Given the description of an element on the screen output the (x, y) to click on. 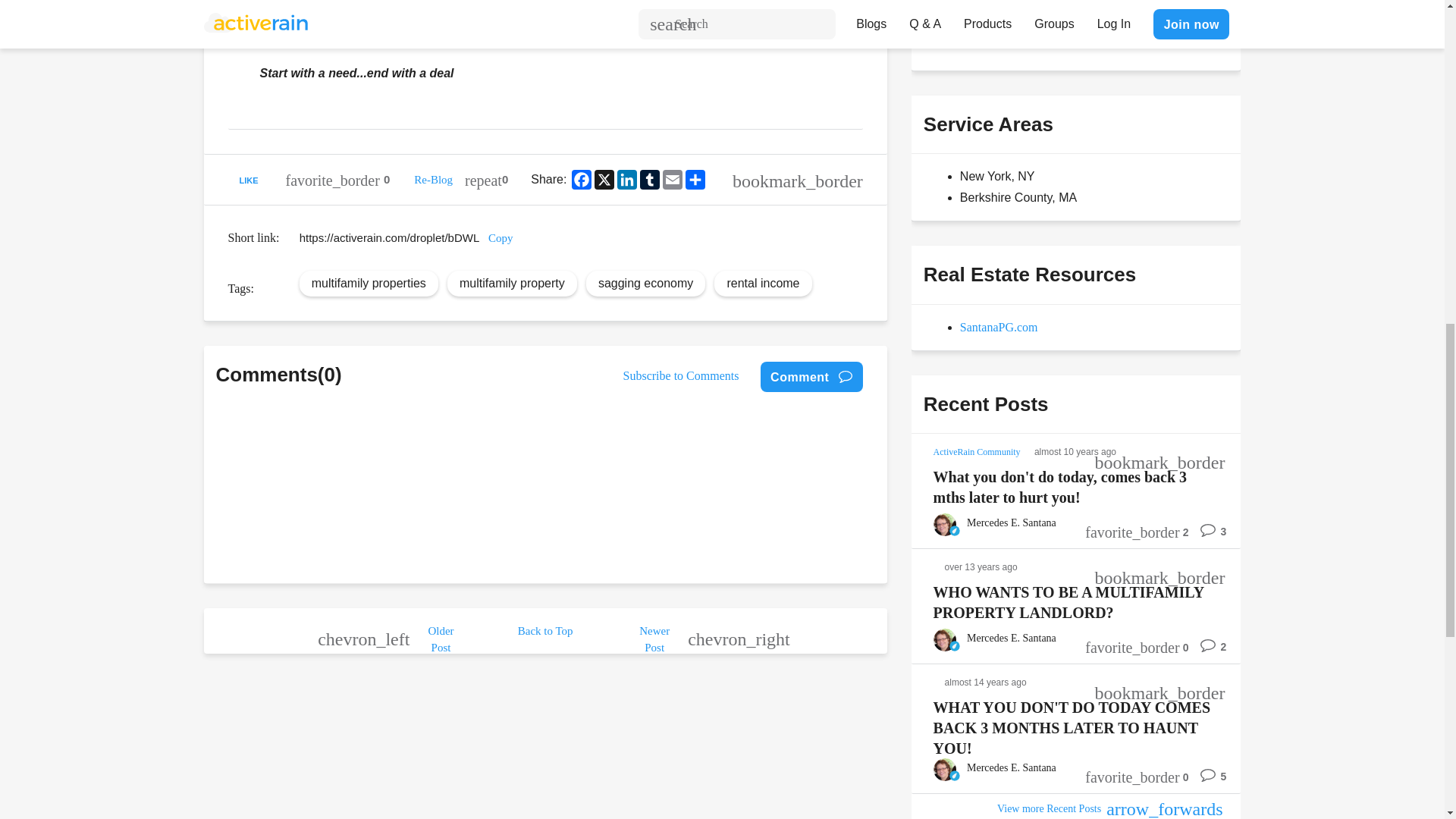
LIKE (250, 179)
SantanaPG.com (998, 327)
Re-Blog (432, 179)
This entry hasn't been re-blogged (486, 179)
sagging economy (645, 282)
Comment (811, 376)
Copy (500, 237)
multifamily properties (368, 282)
Subscribe to Comments (681, 375)
LinkedIn (627, 179)
Facebook (581, 179)
repeat 0 (486, 179)
Share (695, 179)
Email (672, 179)
X (603, 179)
